Given the description of an element on the screen output the (x, y) to click on. 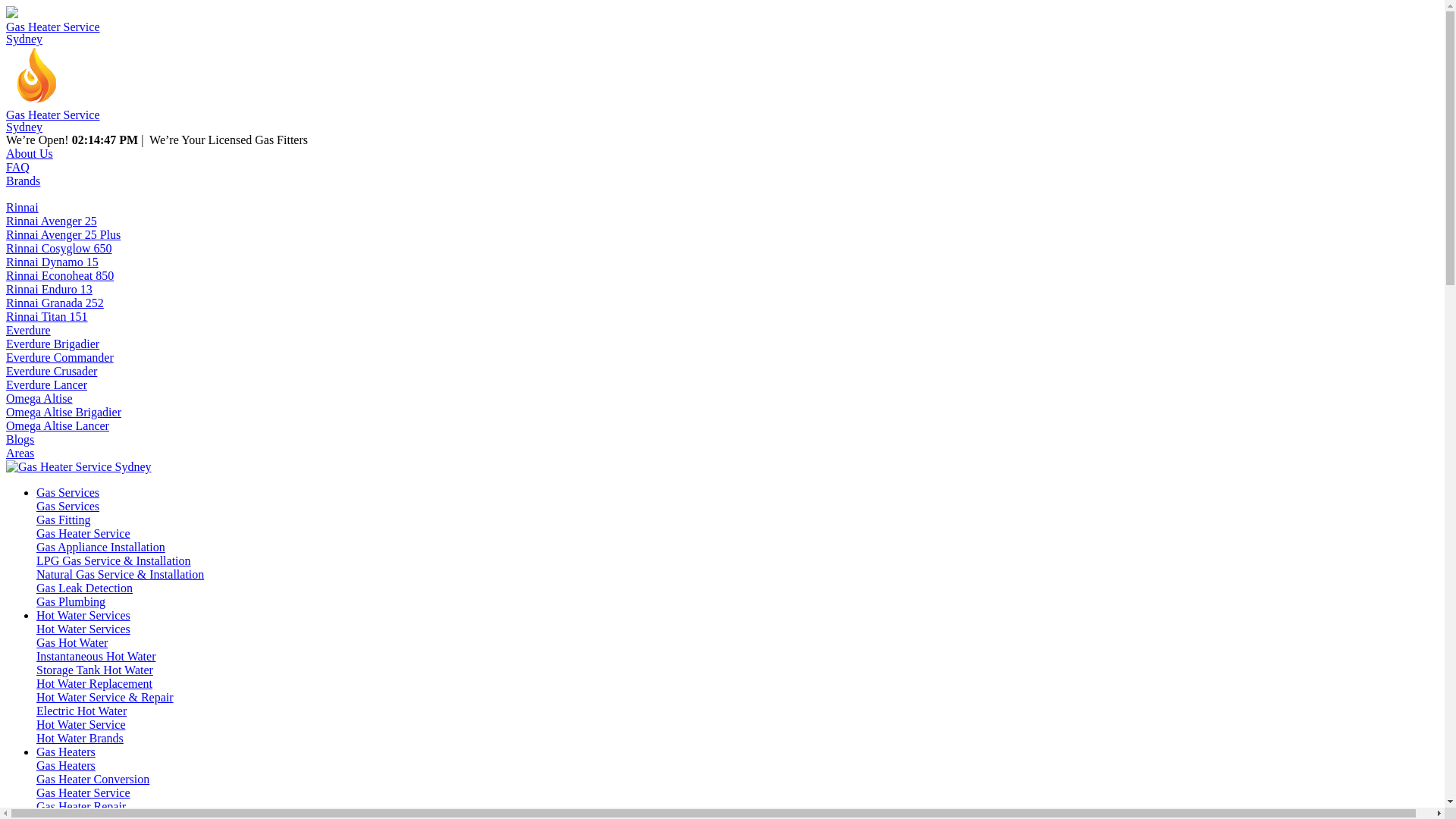
Rinnai Enduro 13 Element type: text (49, 288)
Omega Altise Brigadier Element type: text (63, 411)
Instantaneous Hot Water Element type: text (95, 655)
Hot Water Service & Repair Element type: text (104, 696)
Everdure Element type: text (28, 329)
Gas Services Element type: text (67, 505)
Rinnai Avenger 25 Element type: text (51, 220)
LPG Gas Service & Installation Element type: text (113, 560)
Omega Altise Element type: text (39, 398)
Gas Heaters Element type: text (65, 751)
Gas Fitting Element type: text (63, 519)
Gas Heater Conversion Element type: text (92, 778)
Gas Services Element type: text (67, 492)
Rinnai Element type: text (22, 206)
Rinnai Dynamo 15 Element type: text (52, 261)
FAQ Element type: text (17, 166)
Hot Water Services Element type: text (83, 614)
Blogs Element type: text (20, 439)
About Us Element type: text (29, 153)
Gas Heater Service Element type: text (83, 792)
Gas Heater Service
Sydney
Gas Heater Service
Sydney Element type: text (722, 69)
Everdure Commander Element type: text (59, 357)
Electric Hot Water Element type: text (81, 710)
Gas Heaters Element type: text (65, 765)
Hot Water Services Element type: text (83, 628)
Areas Element type: text (20, 452)
Gas Leak Detection Element type: text (84, 587)
Rinnai Cosyglow 650 Element type: text (59, 247)
Gas Appliance Installation Element type: text (100, 546)
Rinnai Avenger 25 Plus Element type: text (63, 234)
Omega Altise Lancer Element type: text (57, 425)
Rinnai Granada 252 Element type: text (54, 302)
Gas Heater Repair Element type: text (80, 806)
Hot Water Replacement Element type: text (94, 683)
Brands Element type: text (23, 180)
Gas Hot Water Element type: text (71, 642)
Gas Plumbing Element type: text (70, 601)
Everdure Lancer Element type: text (46, 384)
Gas Heater Service Element type: text (83, 533)
Everdure Brigadier Element type: text (52, 343)
Hot Water Brands Element type: text (79, 737)
Rinnai Econoheat 850 Element type: text (59, 275)
Rinnai Titan 151 Element type: text (46, 316)
Everdure Crusader Element type: text (51, 370)
Storage Tank Hot Water Element type: text (94, 669)
Natural Gas Service & Installation Element type: text (119, 573)
Hot Water Service Element type: text (80, 724)
